Given the description of an element on the screen output the (x, y) to click on. 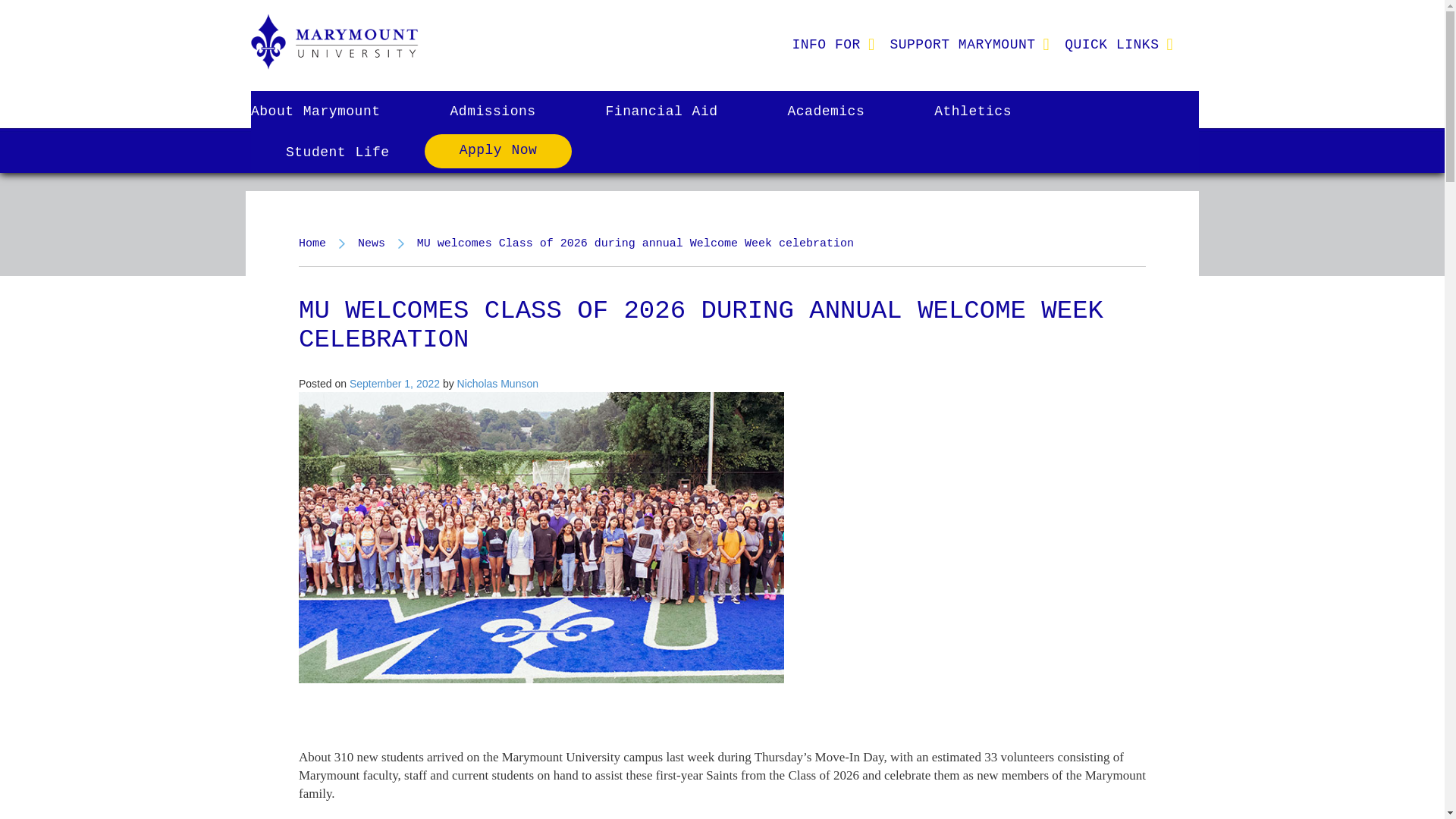
QUICK LINKS (1111, 44)
SUPPORT MARYMOUNT (962, 44)
About Marymount (332, 110)
INFO FOR (825, 44)
